Given the description of an element on the screen output the (x, y) to click on. 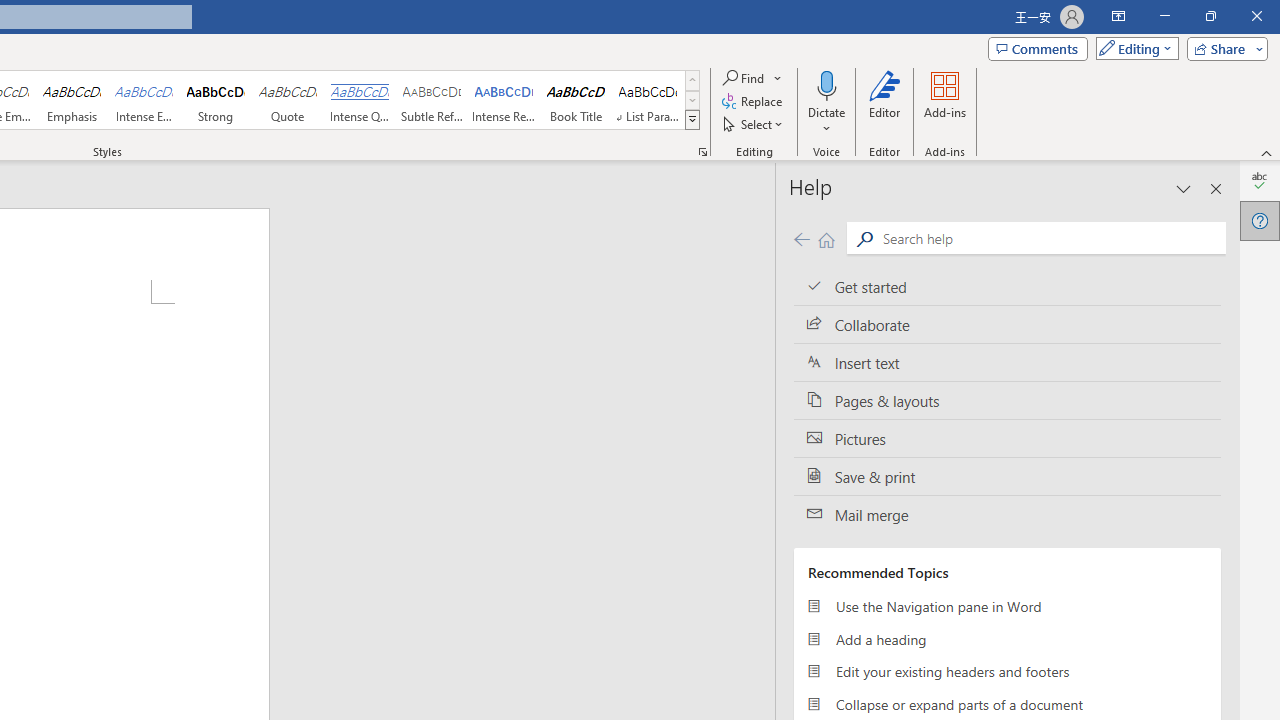
Collaborate (1007, 325)
Intense Reference (504, 100)
Collapse or expand parts of a document (1007, 704)
Insert text (1007, 363)
Intense Quote (359, 100)
